Given the description of an element on the screen output the (x, y) to click on. 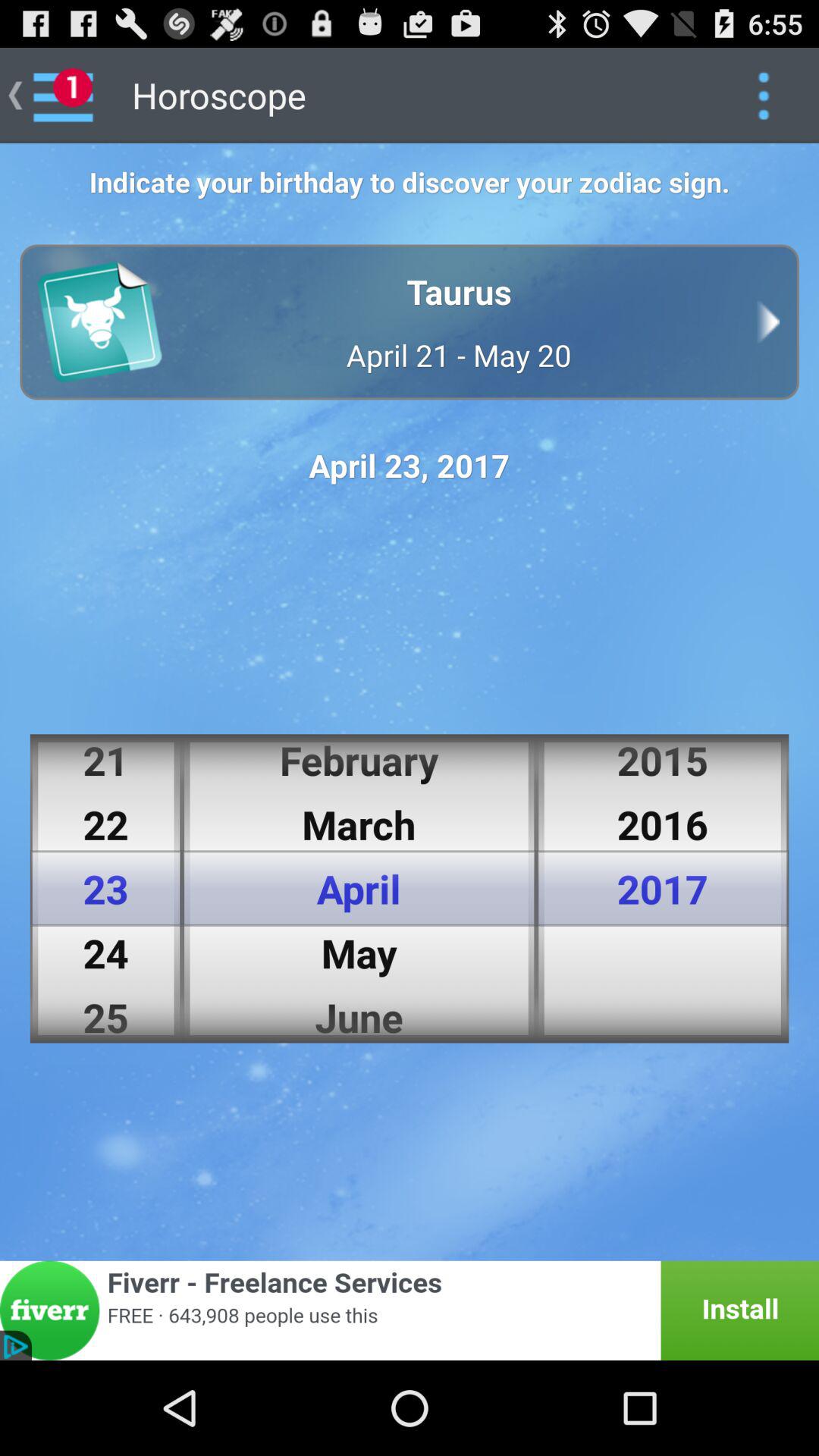
expand menu (763, 95)
